Given the description of an element on the screen output the (x, y) to click on. 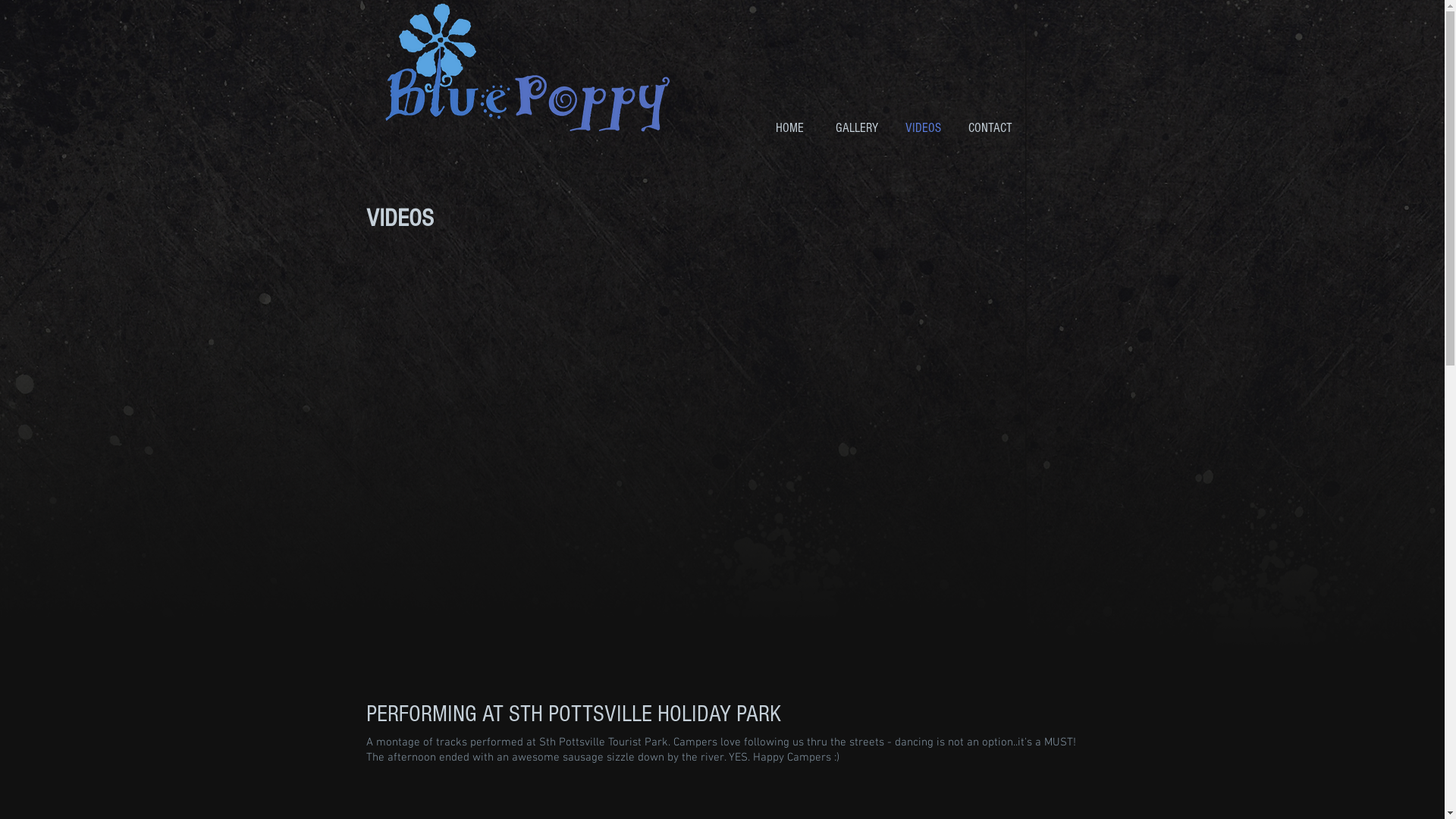
VIDEOS Element type: text (923, 127)
blue%2520logo%2520no%2520roving%2520ent_ Element type: hover (527, 67)
HOME Element type: text (789, 127)
GALLERY Element type: text (856, 127)
External YouTube Element type: hover (721, 466)
CONTACT Element type: text (990, 127)
